Given the description of an element on the screen output the (x, y) to click on. 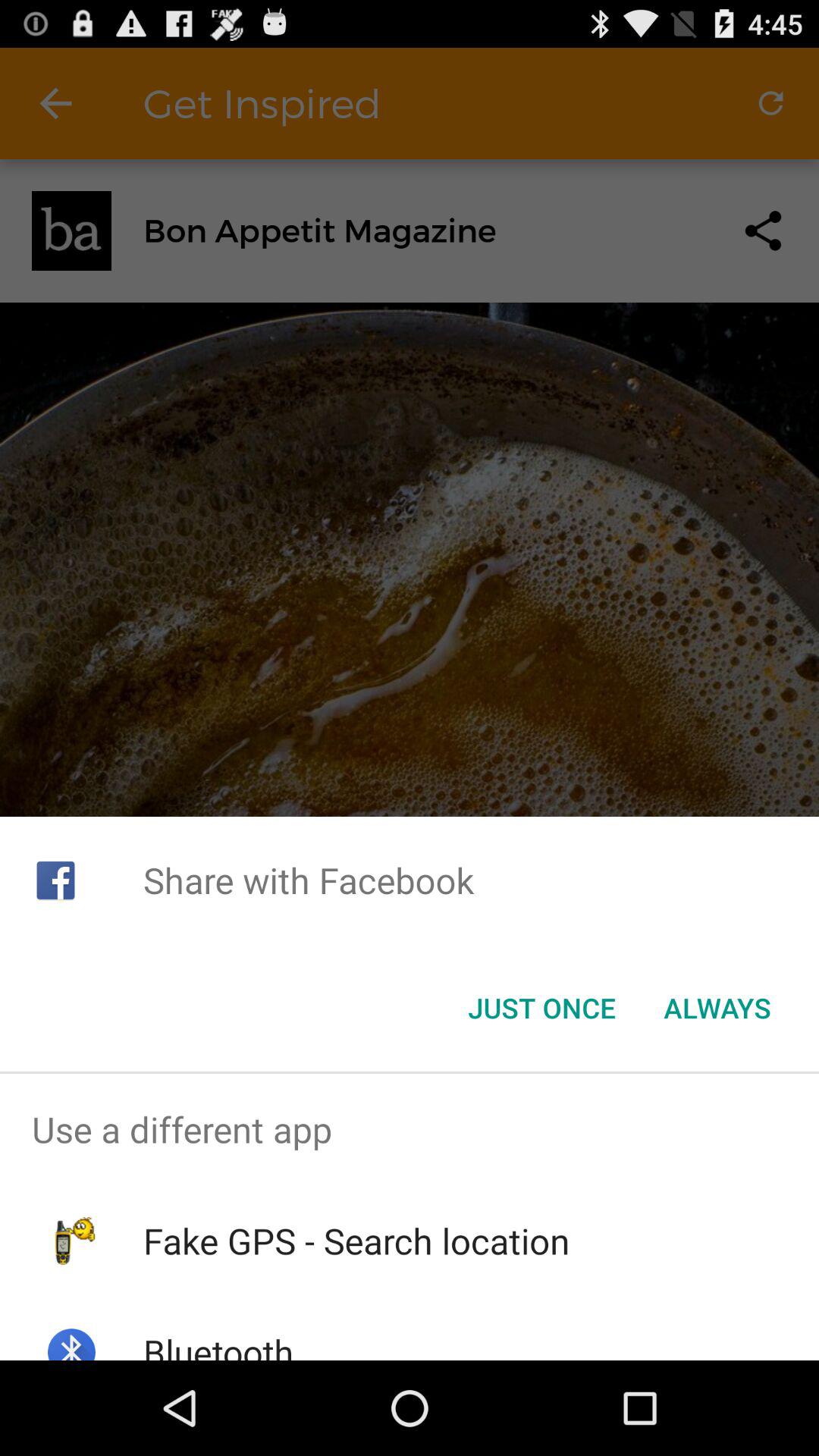
jump to the use a different icon (409, 1129)
